Given the description of an element on the screen output the (x, y) to click on. 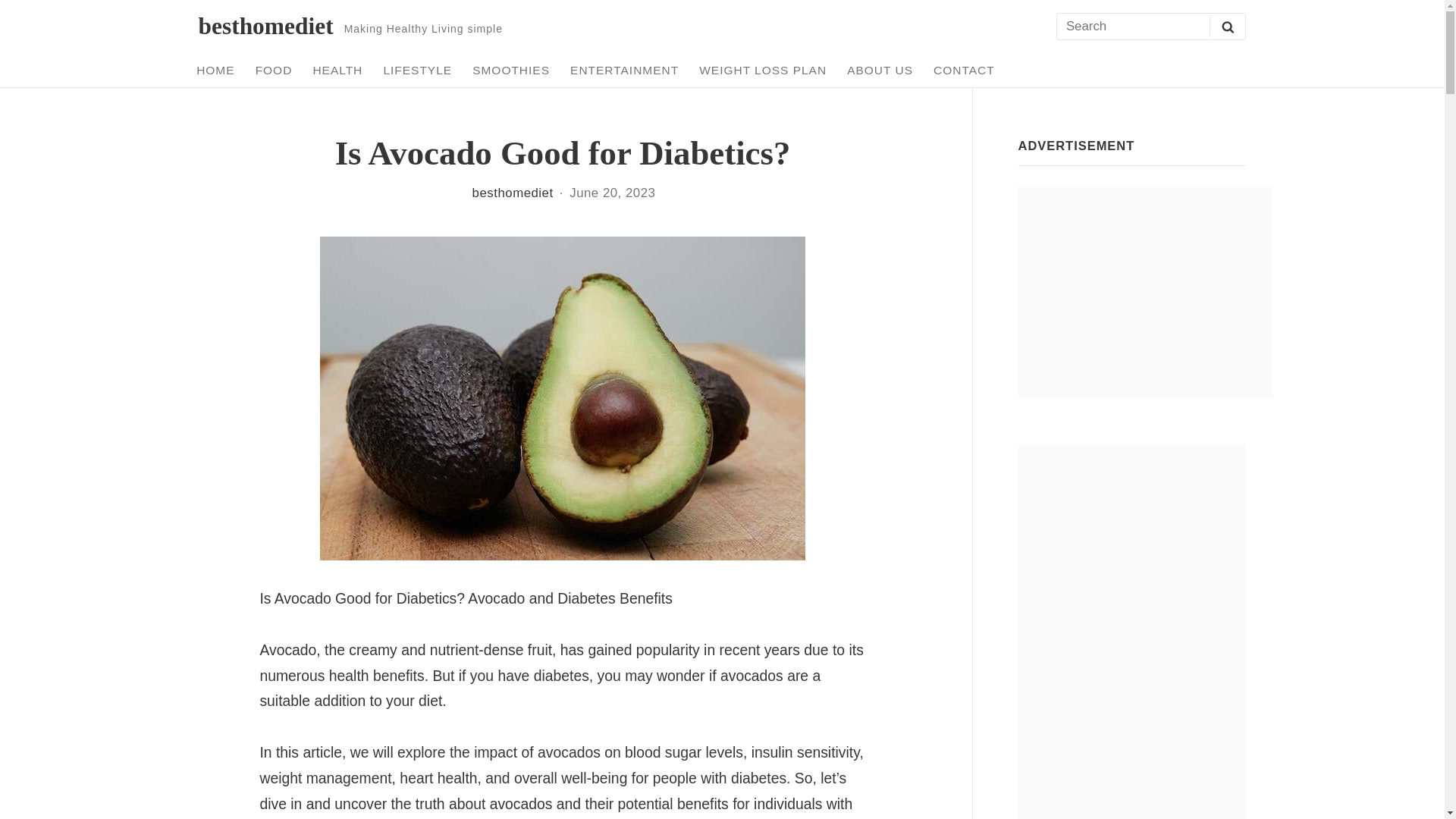
Search for: (1149, 26)
besthomediet (512, 192)
besthomediet (265, 25)
WEIGHT LOSS PLAN (762, 69)
SMOOTHIES (511, 69)
LIFESTYLE (417, 69)
HOME (216, 69)
ABOUT US (880, 69)
SEARCH (1226, 25)
FOOD (273, 69)
